Given the description of an element on the screen output the (x, y) to click on. 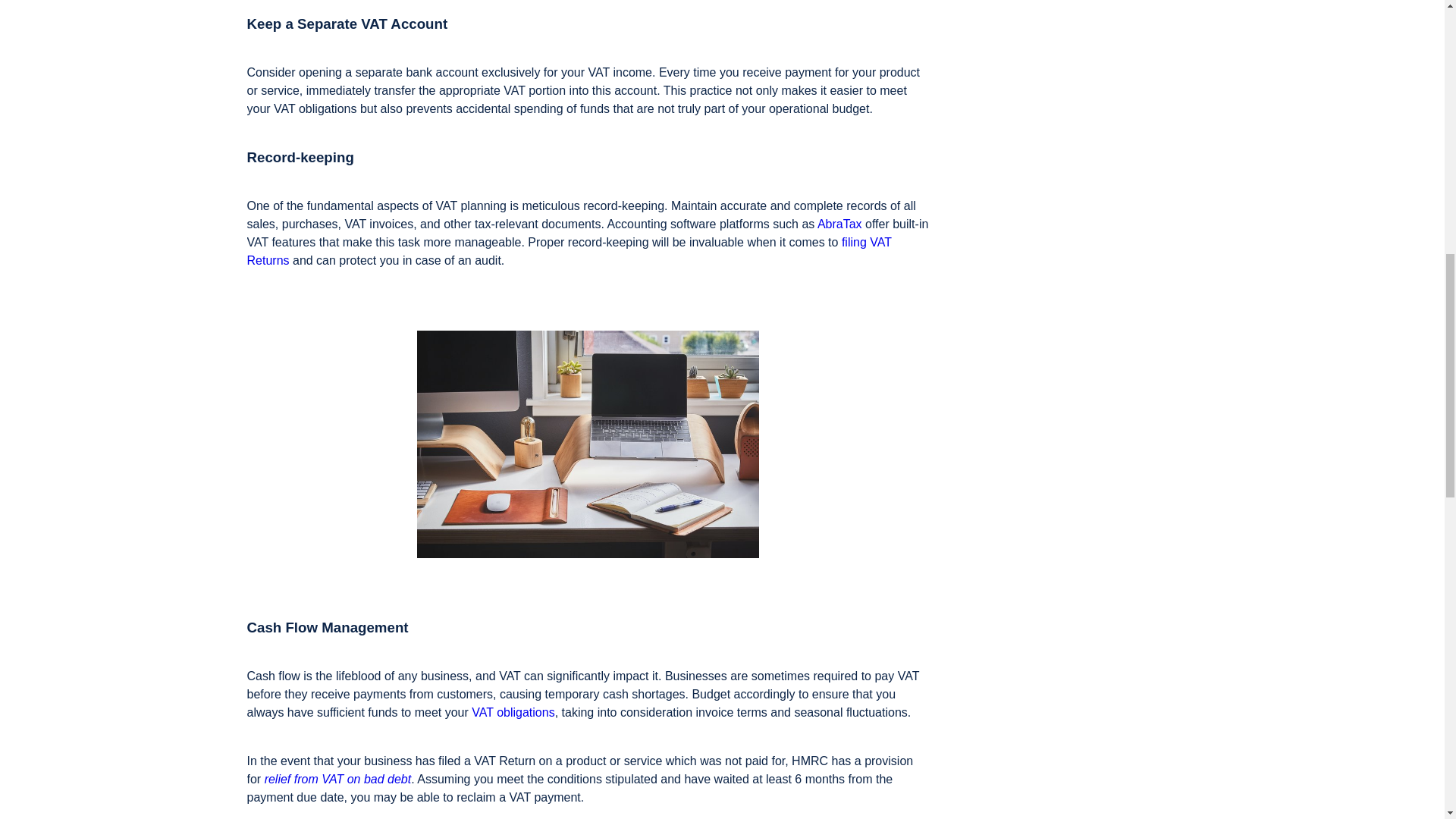
AbraTax (838, 223)
filing VAT Returns (569, 250)
VAT obligations (512, 712)
relief from VAT on bad debt (338, 779)
